Given the description of an element on the screen output the (x, y) to click on. 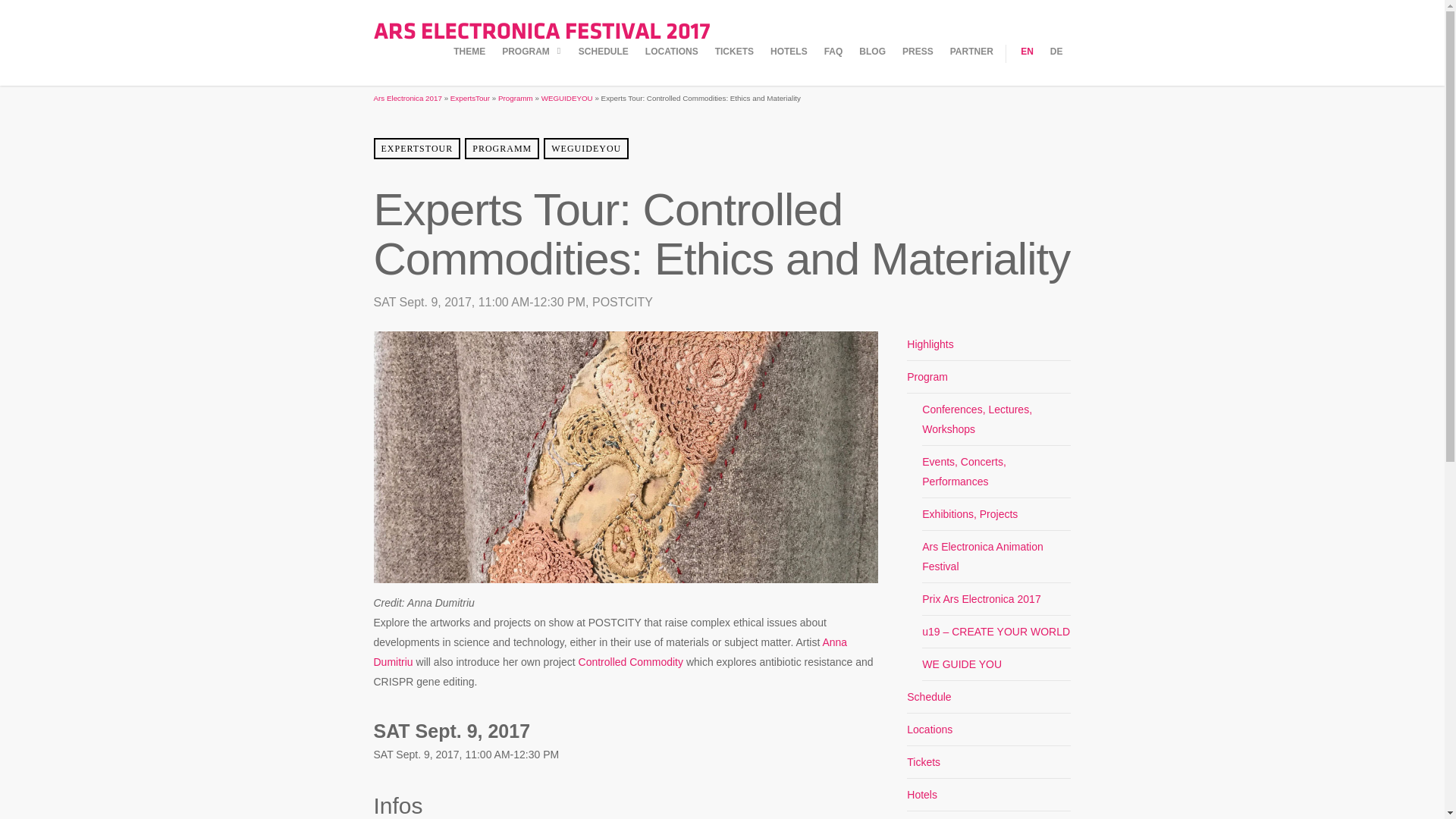
TICKETS (734, 64)
PARTNER (971, 64)
HOTELS (788, 64)
SCHEDULE (603, 64)
PRESS (917, 64)
THEME (469, 64)
Post Image (624, 582)
LOCATIONS (671, 64)
BLOG (872, 64)
PROGRAM (532, 64)
